Given the description of an element on the screen output the (x, y) to click on. 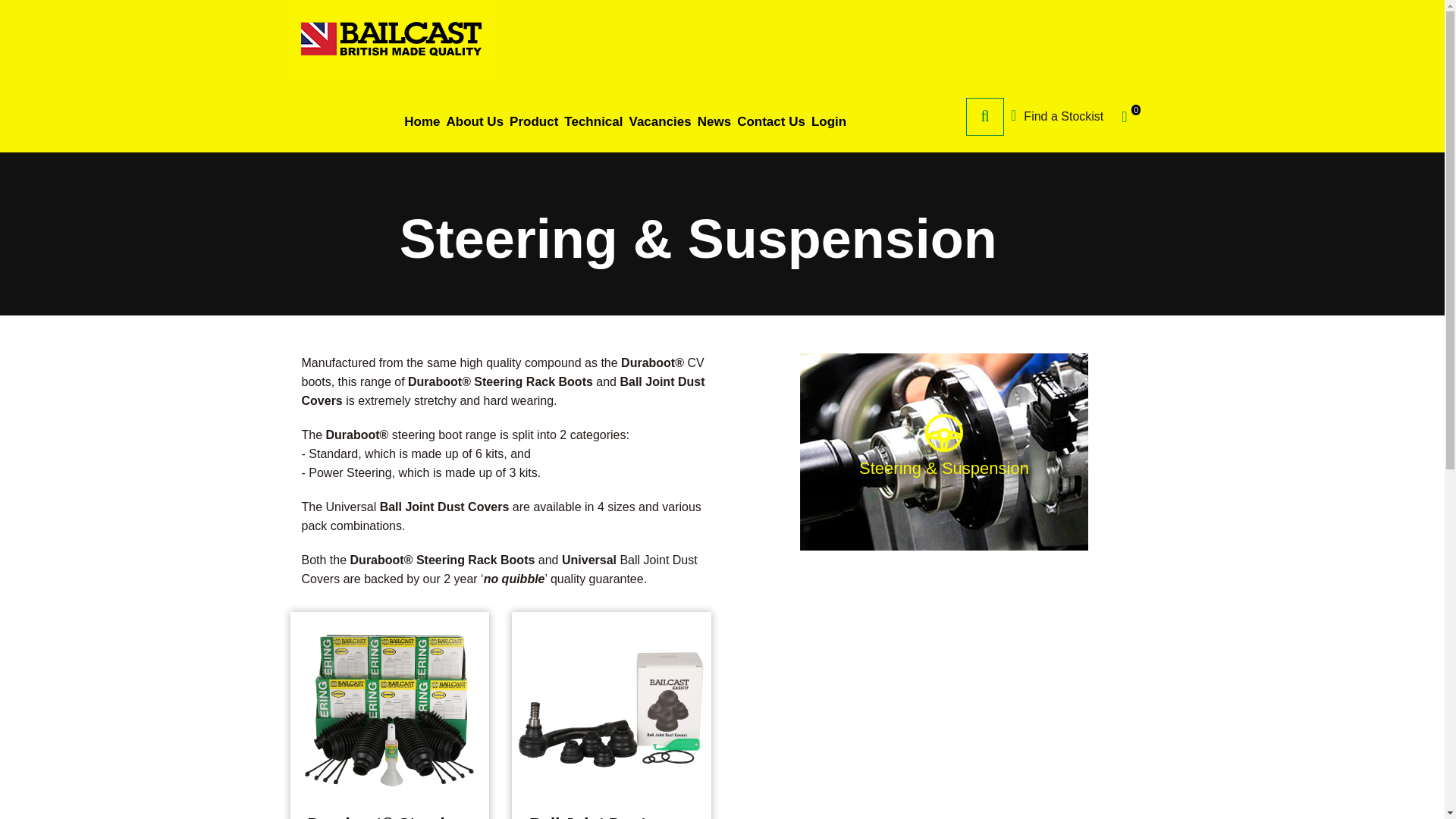
Technical (593, 121)
Find a Stockist (1056, 131)
Vacancies (660, 121)
Ball Joint Dust Covers (609, 816)
Contact Us (770, 121)
About Us (475, 121)
